Given the description of an element on the screen output the (x, y) to click on. 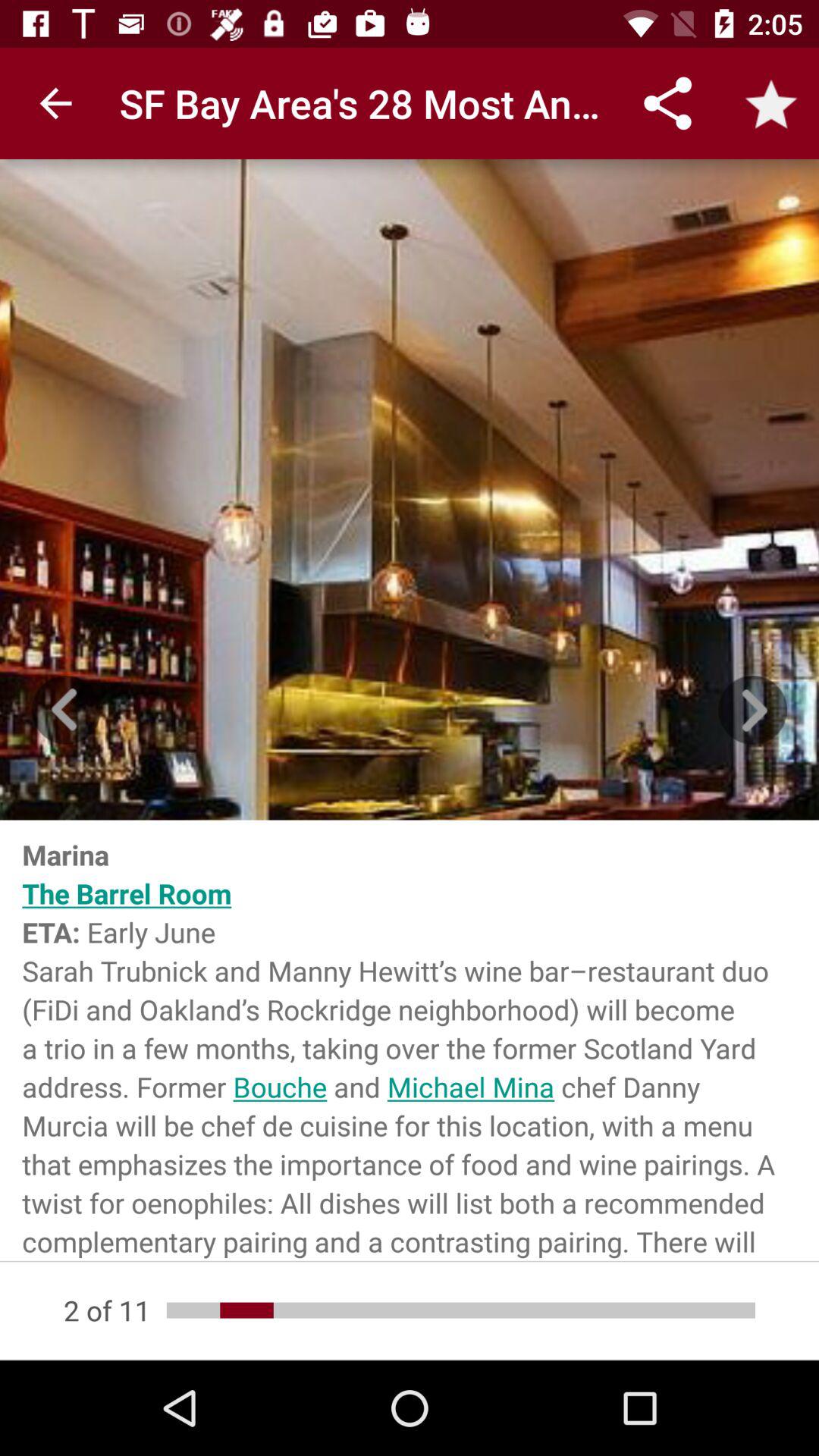
open app to the left of sf bay area app (55, 103)
